Given the description of an element on the screen output the (x, y) to click on. 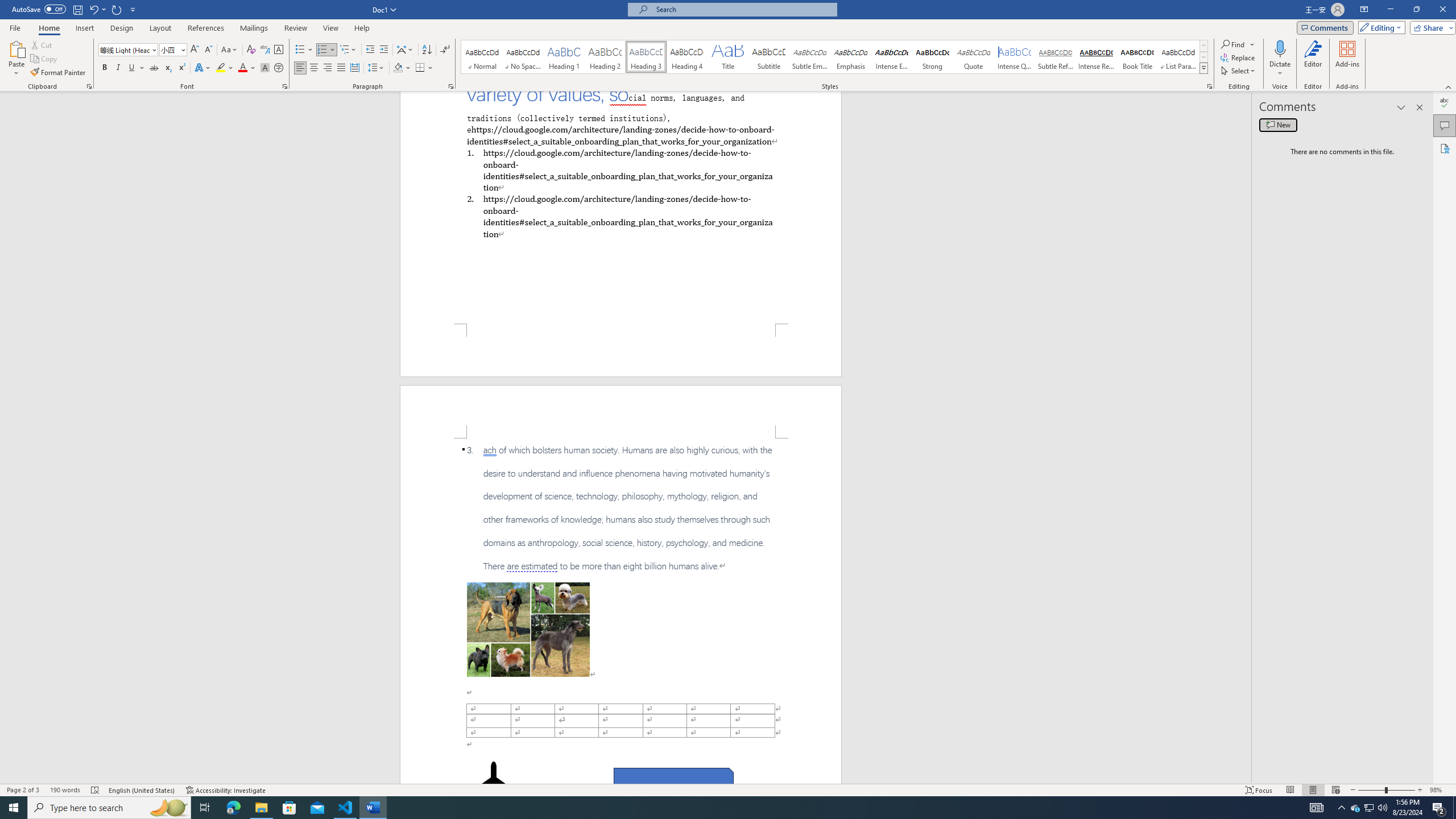
Subtle Emphasis (809, 56)
Subtitle (768, 56)
Footer -Section 1- (620, 349)
Strikethrough (154, 67)
Change Case (229, 49)
Page 1 content (620, 207)
1. (620, 169)
3. (620, 507)
